Given the description of an element on the screen output the (x, y) to click on. 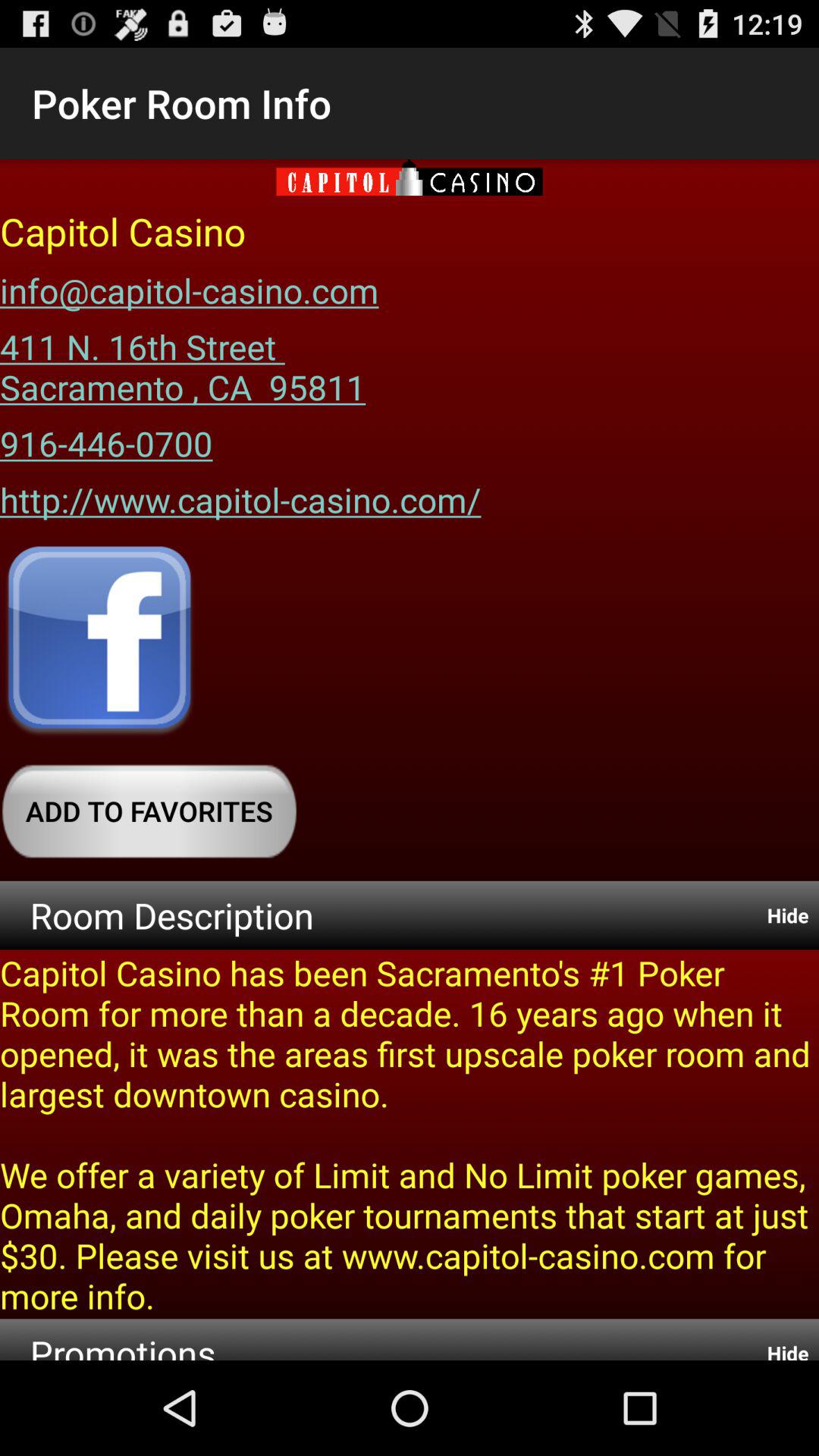
turn on the app below 411 n 16th (106, 438)
